Given the description of an element on the screen output the (x, y) to click on. 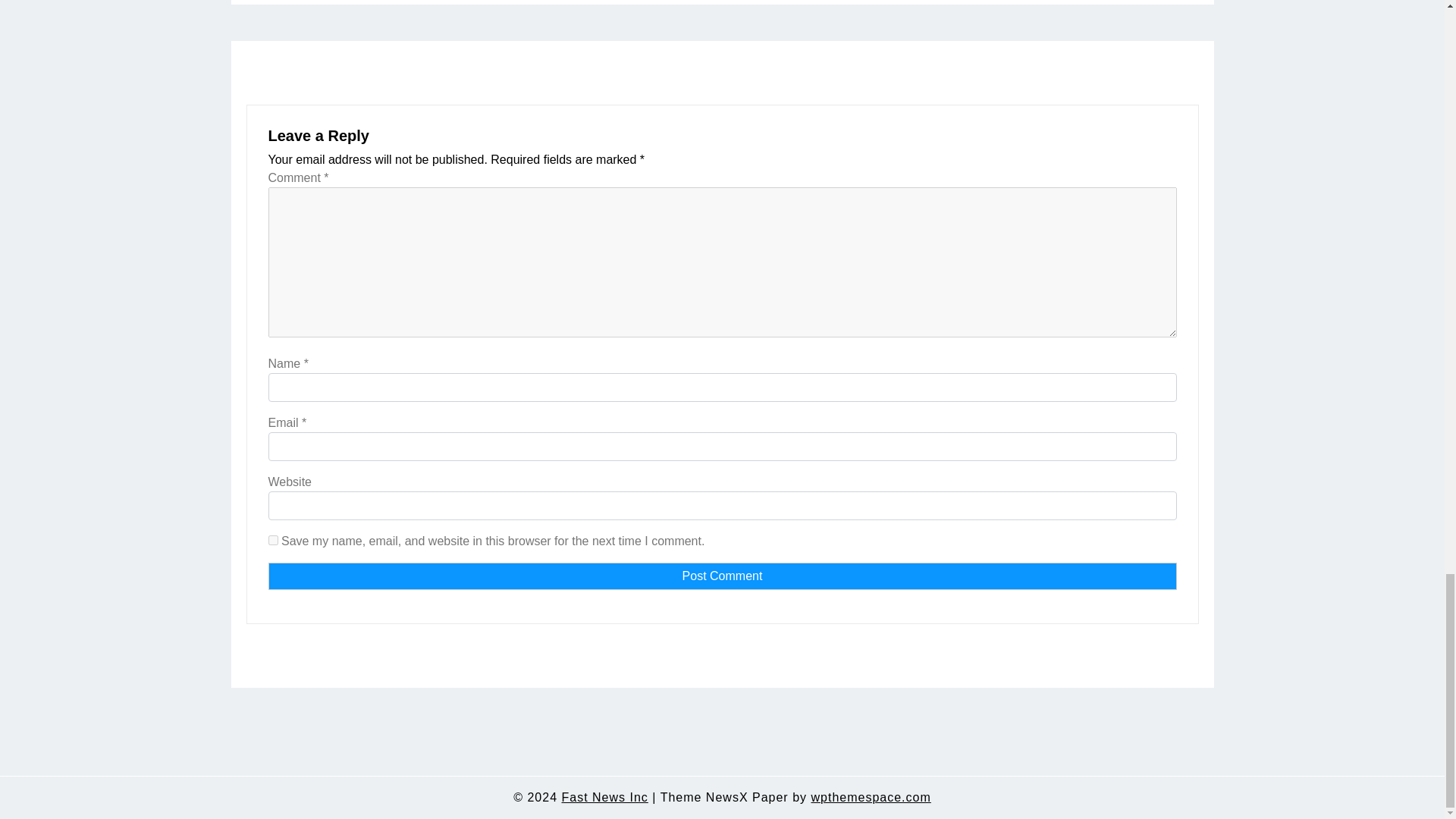
Post Comment (721, 575)
Post Comment (721, 575)
Fast News Inc (603, 797)
yes (272, 540)
wpthemespace.com (870, 797)
